Given the description of an element on the screen output the (x, y) to click on. 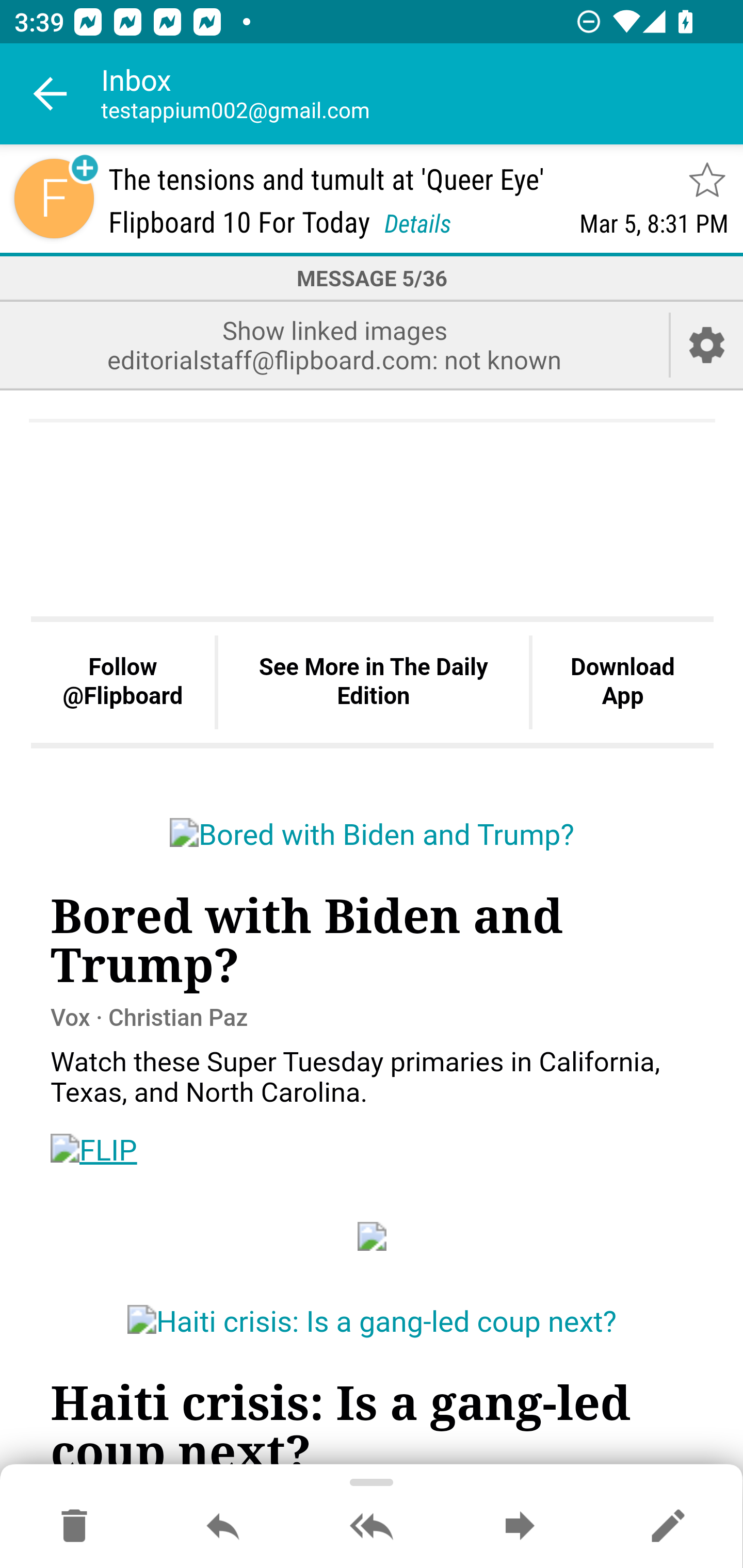
Navigate up (50, 93)
Inbox testappium002@gmail.com (422, 93)
Sender contact button (53, 198)
Account setup (706, 344)
Follow @Flipboard Follow  @Flipboard (122, 682)
See More in The Daily Edition (372, 682)
Download App (622, 682)
FLIP (93, 1150)
data: (372, 1235)
Move to Deleted (74, 1527)
Reply (222, 1527)
Reply all (371, 1527)
Forward (519, 1527)
Reply as new (667, 1527)
